Given the description of an element on the screen output the (x, y) to click on. 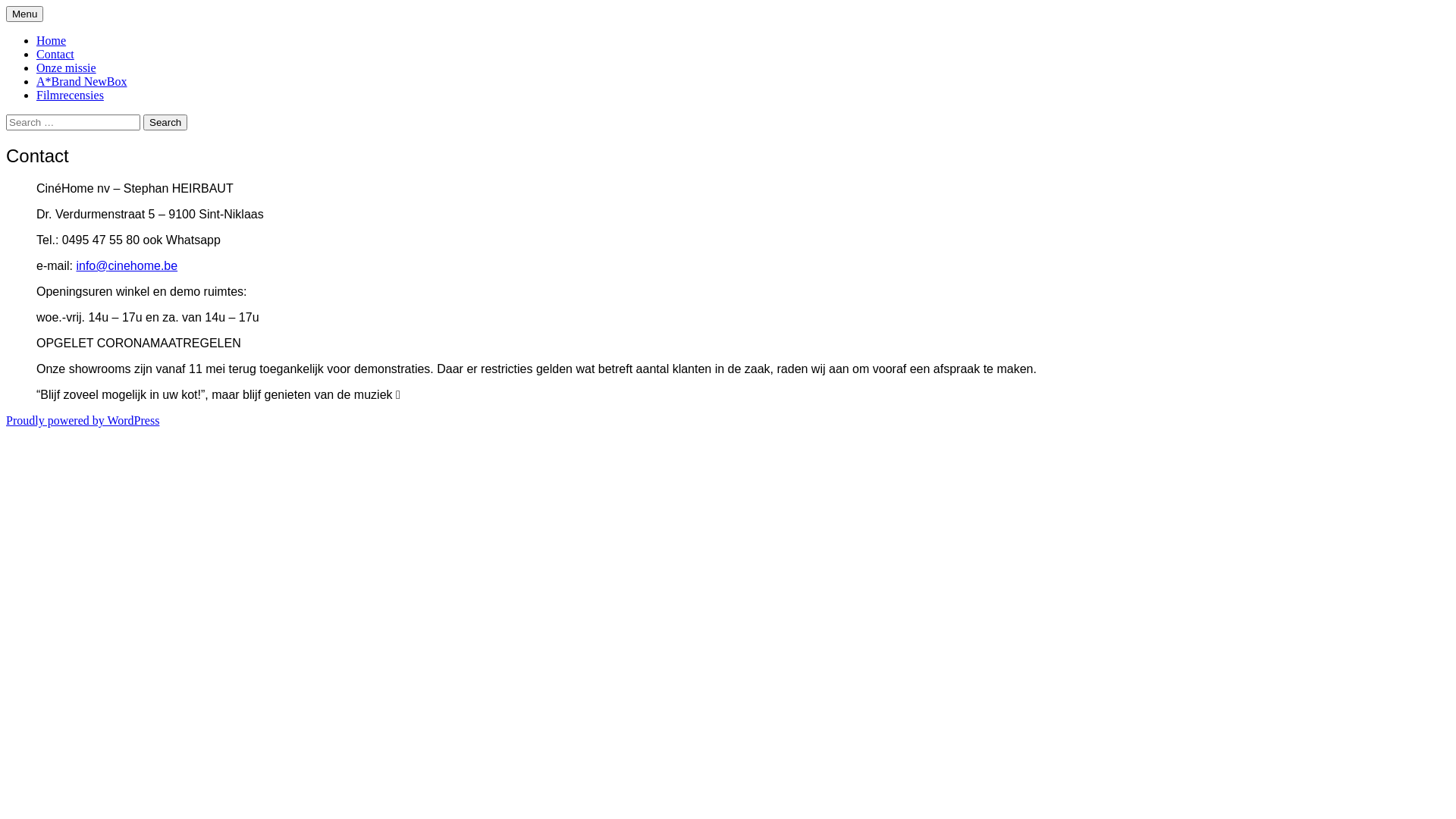
Home Element type: text (50, 40)
A*Brand NewBox Element type: text (81, 81)
Onze missie Element type: text (66, 67)
Filmrecensies Element type: text (69, 94)
Skip to content Element type: text (42, 5)
Proudly powered by WordPress Element type: text (82, 420)
Search Element type: text (165, 122)
Menu Element type: text (24, 13)
Contact Element type: text (55, 53)
info@cinehome.be Element type: text (126, 265)
